Given the description of an element on the screen output the (x, y) to click on. 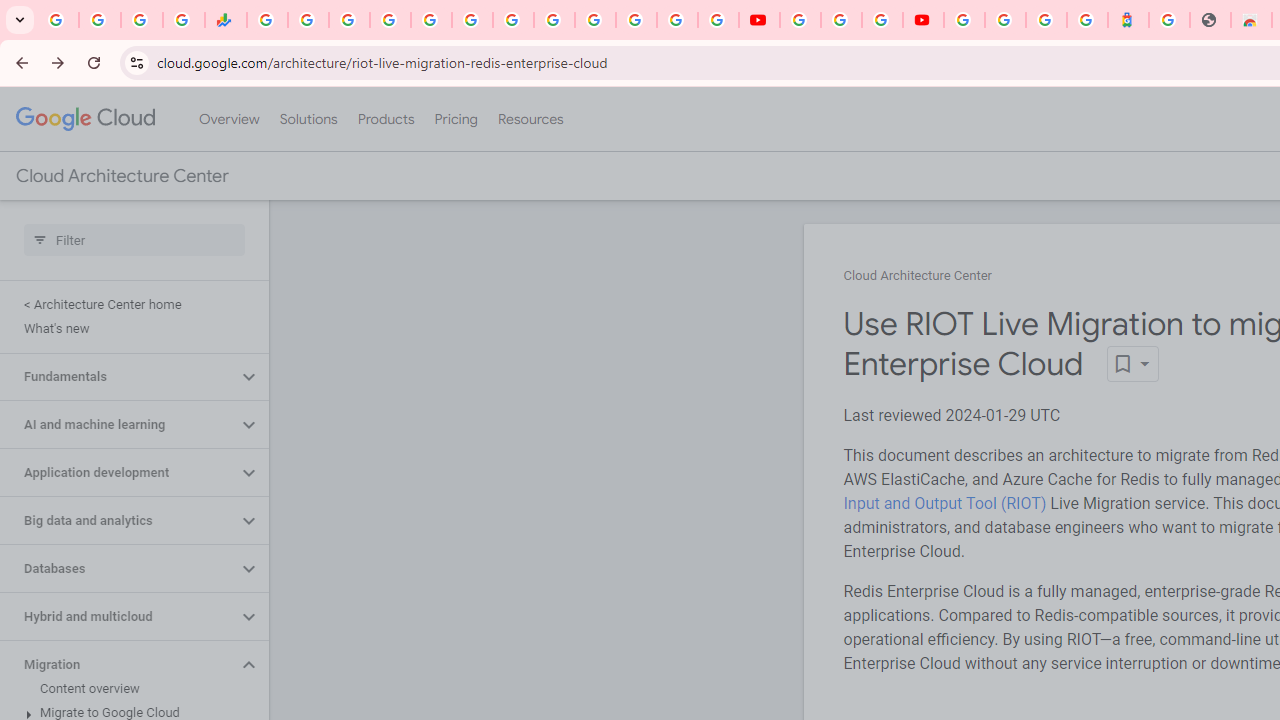
YouTube (553, 20)
Content Creator Programs & Opportunities - YouTube Creators (923, 20)
YouTube (758, 20)
< Architecture Center home (130, 304)
Google Workspace Admin Community (58, 20)
Solutions (308, 119)
Create your Google Account (881, 20)
Open dropdown (1131, 364)
Sign in - Google Accounts (964, 20)
